Given the description of an element on the screen output the (x, y) to click on. 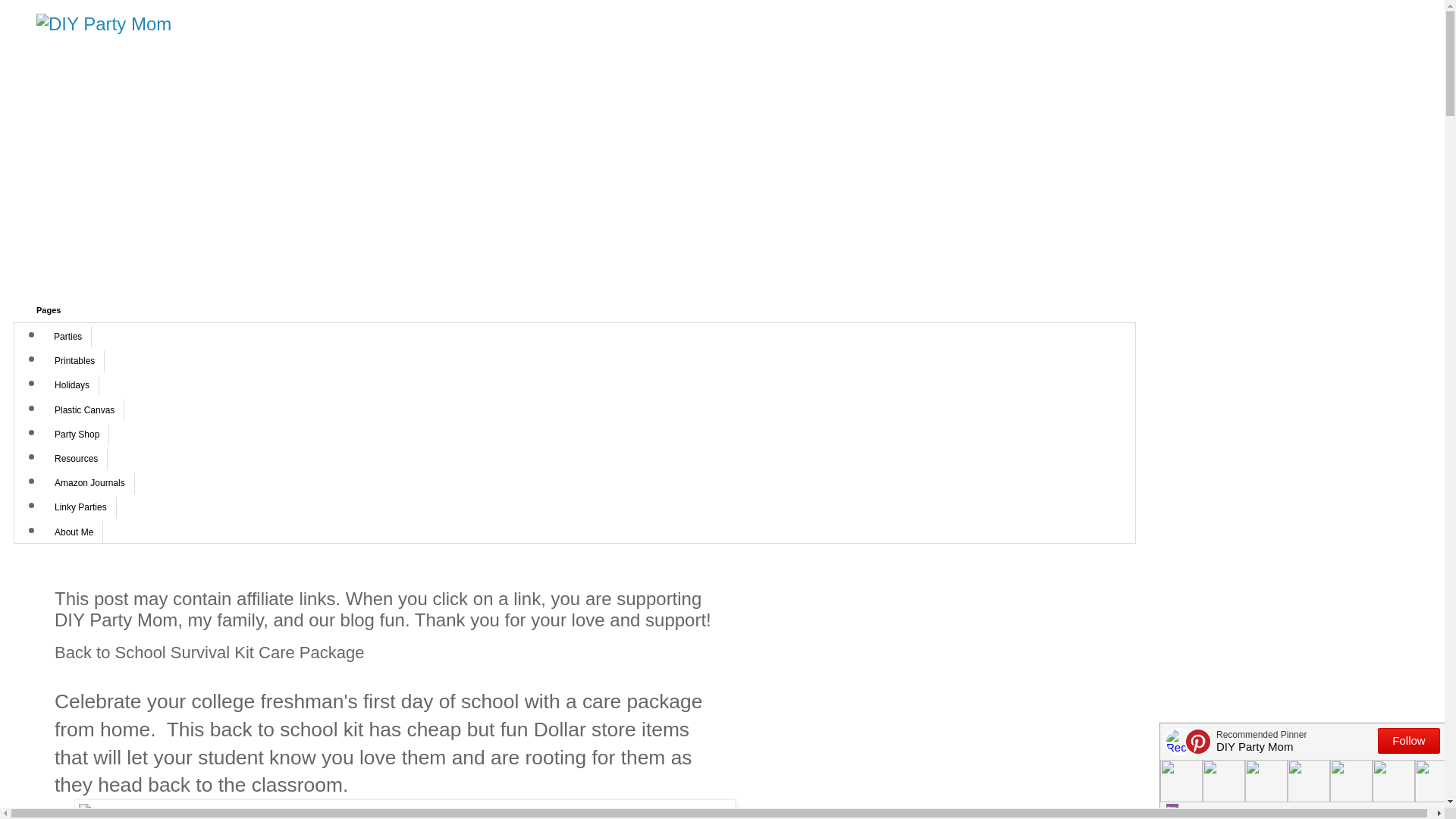
About Me (74, 531)
Printables (74, 360)
Party Shop (77, 434)
Resources (76, 458)
Parties (68, 336)
Linky Parties (80, 506)
Amazon Journals (90, 482)
Plastic Canvas (84, 409)
Holidays (72, 384)
